Given the description of an element on the screen output the (x, y) to click on. 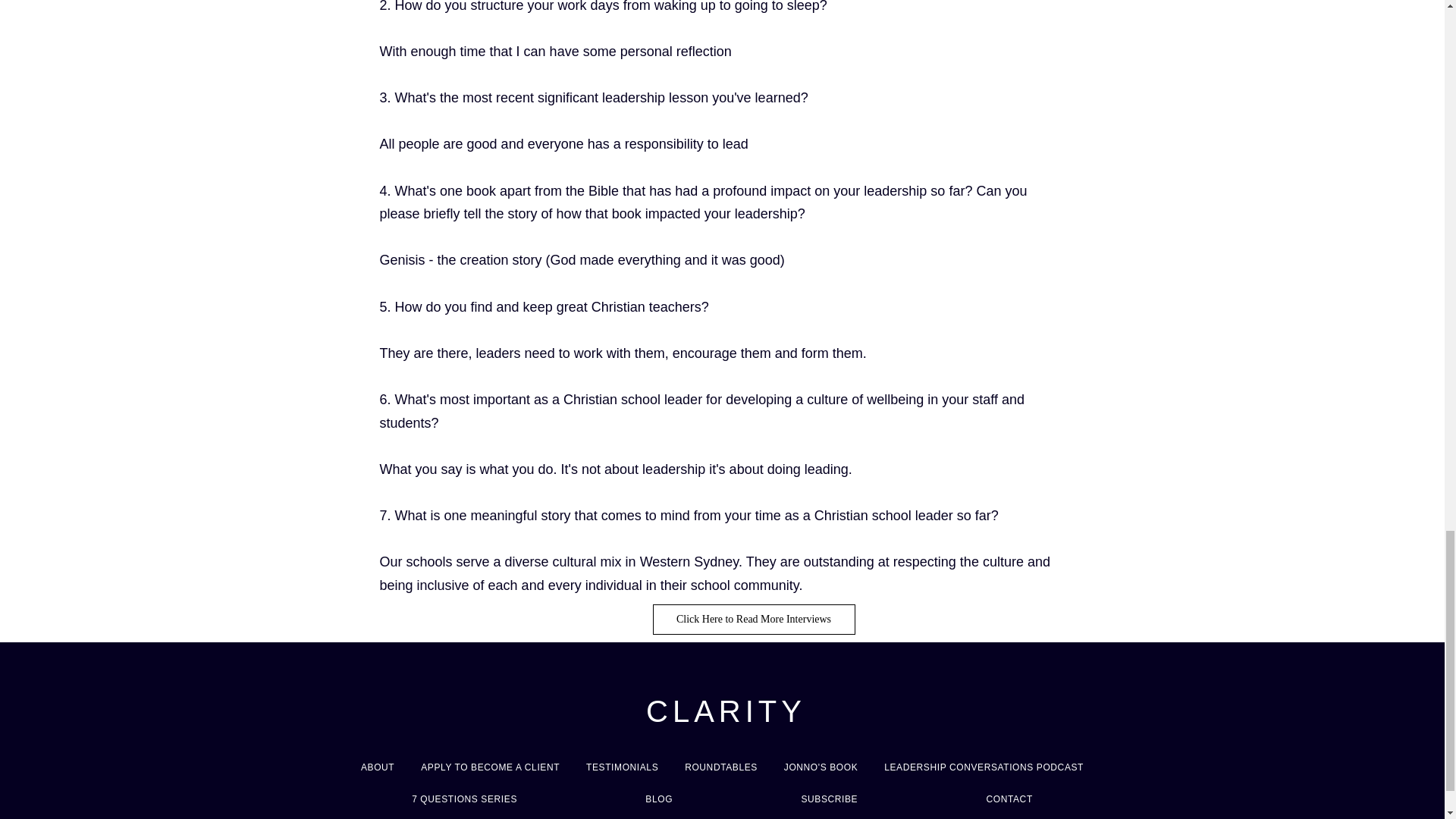
LEADERSHIP CONVERSATIONS PODCAST (984, 767)
ROUNDTABLES (721, 767)
APPLY TO BECOME A CLIENT (490, 767)
JONNO'S BOOK (820, 767)
Click Here to Read More Interviews (753, 619)
CONTACT (1009, 799)
CLARITY (726, 711)
ABOUT (377, 767)
7 QUESTIONS SERIES (464, 799)
SUBSCRIBE (828, 799)
BLOG (659, 799)
TESTIMONIALS (622, 767)
